Given the description of an element on the screen output the (x, y) to click on. 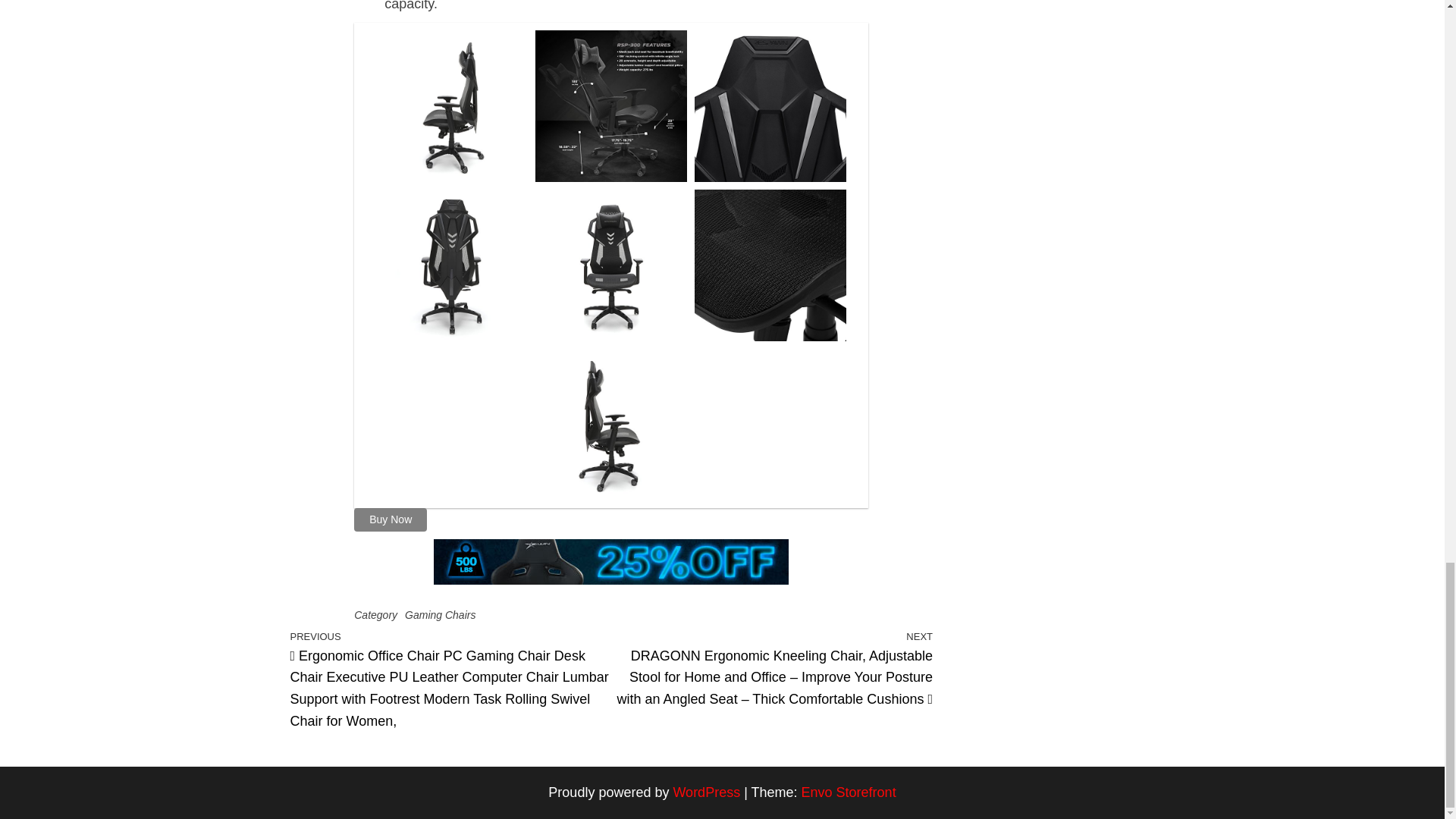
Buy Now (389, 519)
Gaming Chairs (440, 614)
WordPress (705, 792)
Envo Storefront (849, 792)
